Given the description of an element on the screen output the (x, y) to click on. 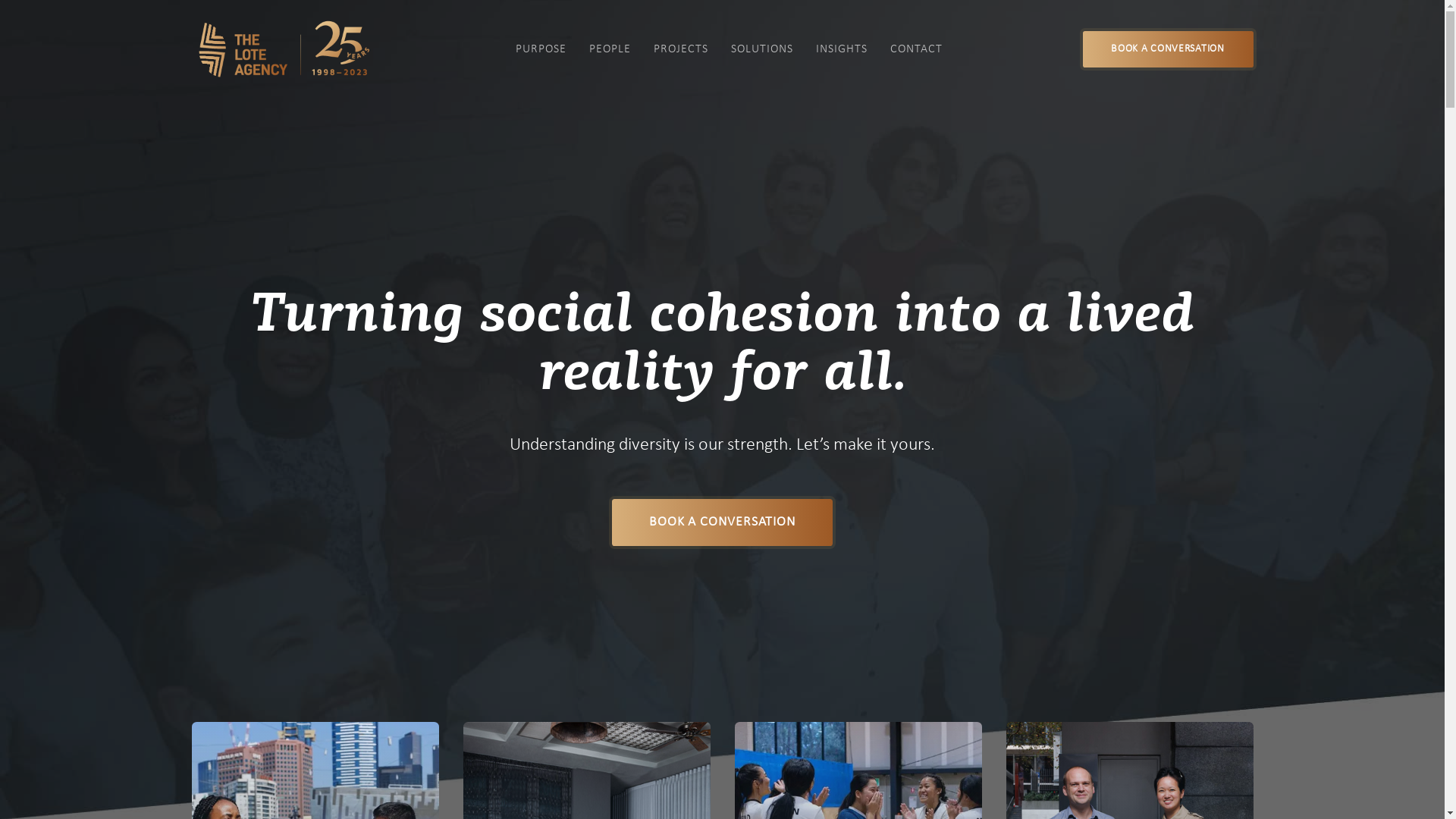
INSIGHTS Element type: text (841, 48)
CONTACT Element type: text (915, 48)
BOOK A CONVERSATION Element type: text (1167, 49)
PURPOSE Element type: text (540, 48)
SOLUTIONS Element type: text (761, 48)
PROJECTS Element type: text (680, 48)
PEOPLE Element type: text (609, 48)
BOOK A CONVERSATION Element type: text (721, 522)
